Given the description of an element on the screen output the (x, y) to click on. 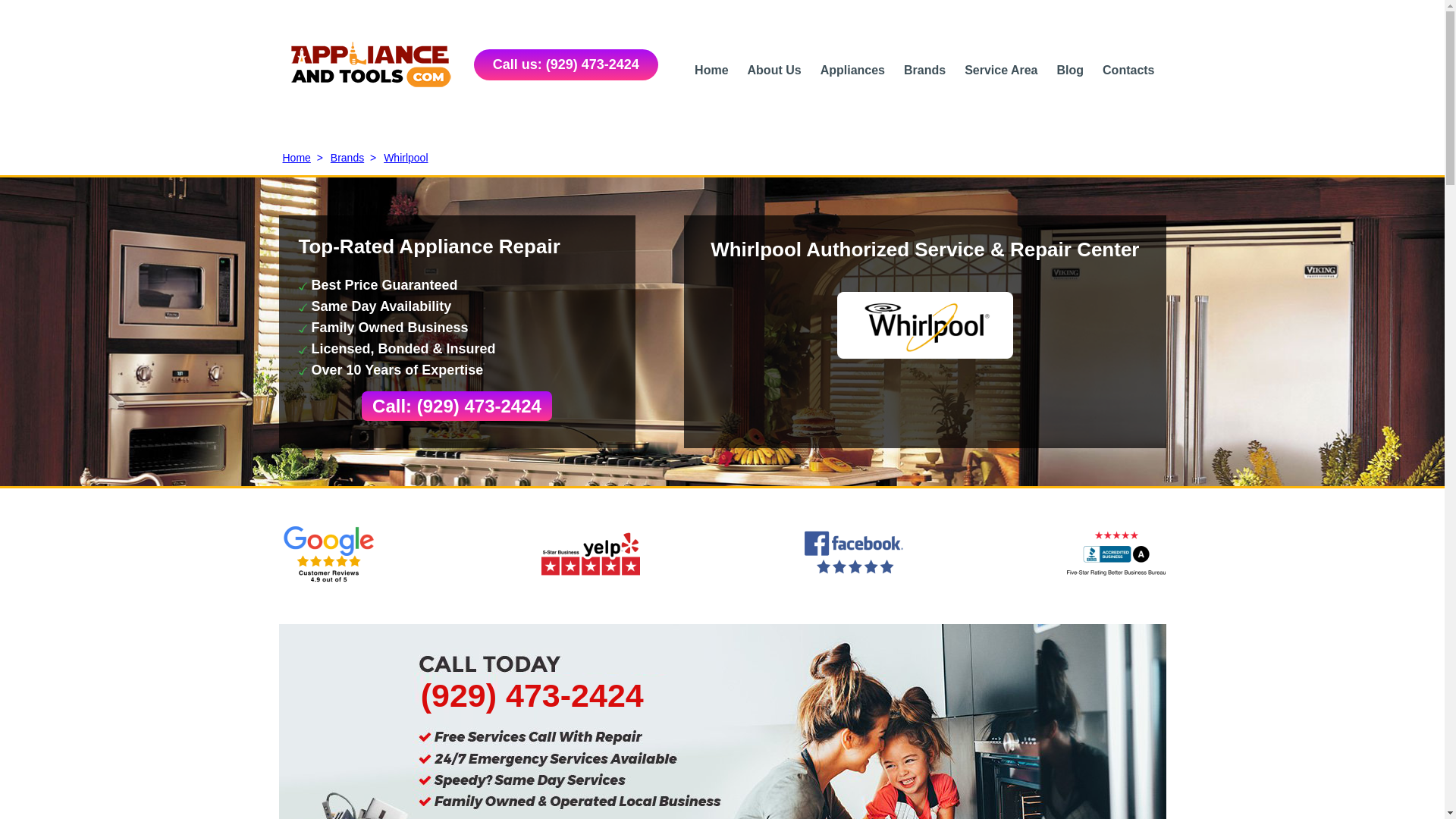
About Us (775, 69)
Home (711, 69)
Appliances (853, 69)
Brands (924, 69)
